Given the description of an element on the screen output the (x, y) to click on. 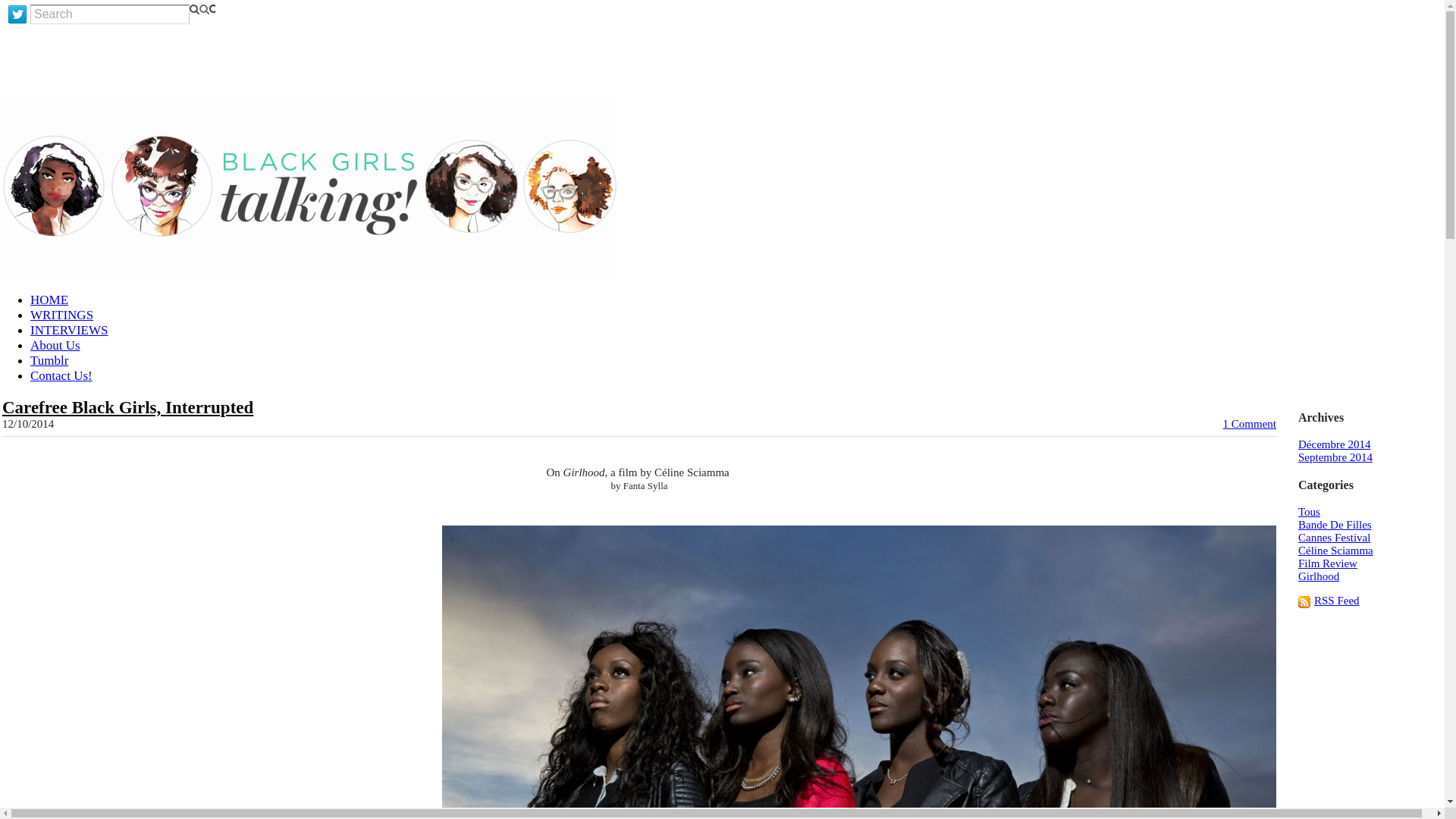
Carefree Black Girls, Interrupted (127, 407)
Tous (1309, 511)
RSS Feed (1336, 600)
Septembre 2014 (1335, 457)
HOME (49, 299)
WRITINGS (61, 314)
About Us (55, 345)
Tumblr (49, 359)
Girlhood (1318, 576)
INTERVIEWS (68, 329)
